Given the description of an element on the screen output the (x, y) to click on. 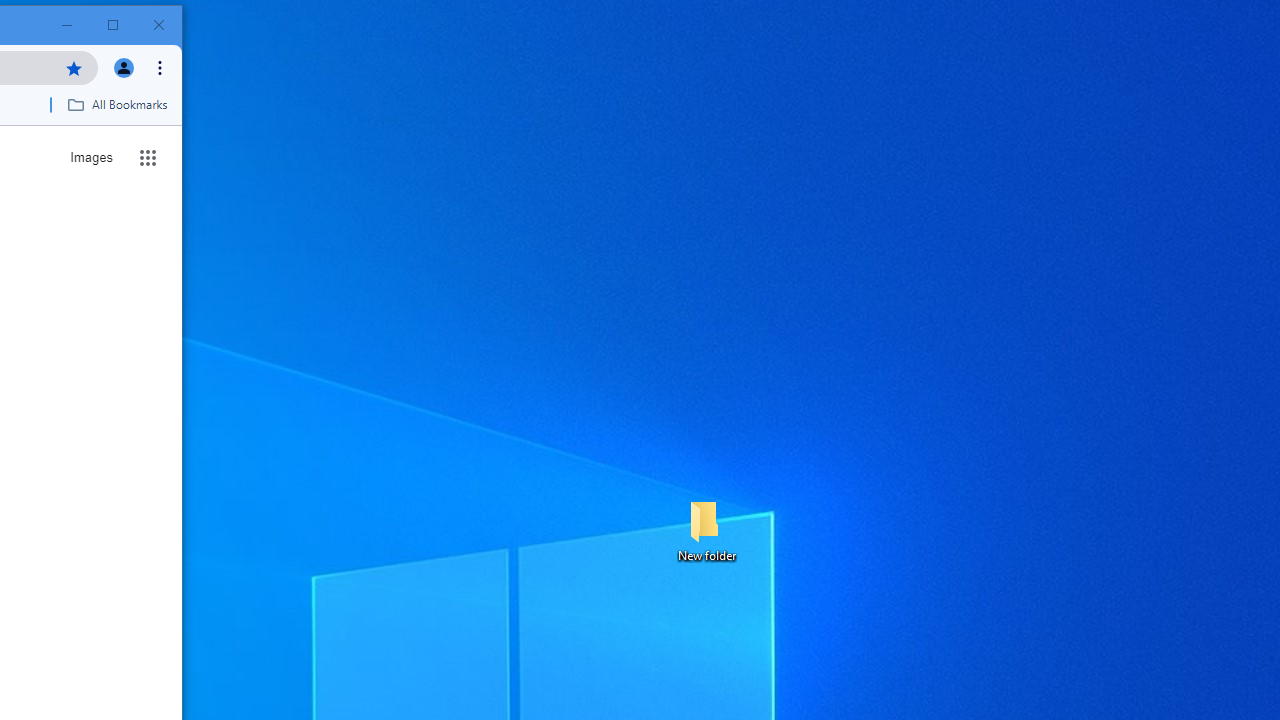
New folder (706, 530)
